Given the description of an element on the screen output the (x, y) to click on. 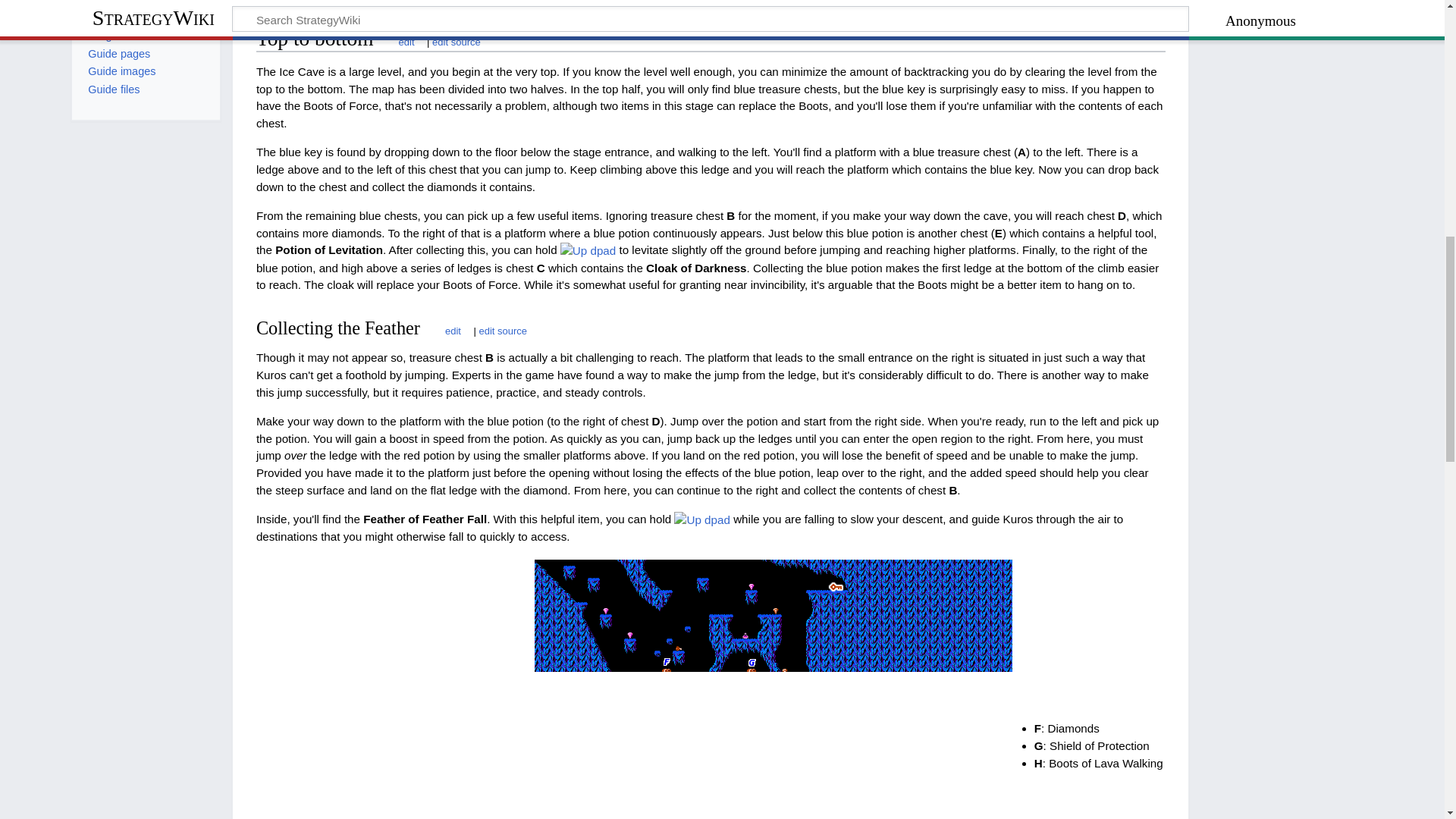
edit (399, 40)
edit (445, 329)
edit source (456, 40)
